Given the description of an element on the screen output the (x, y) to click on. 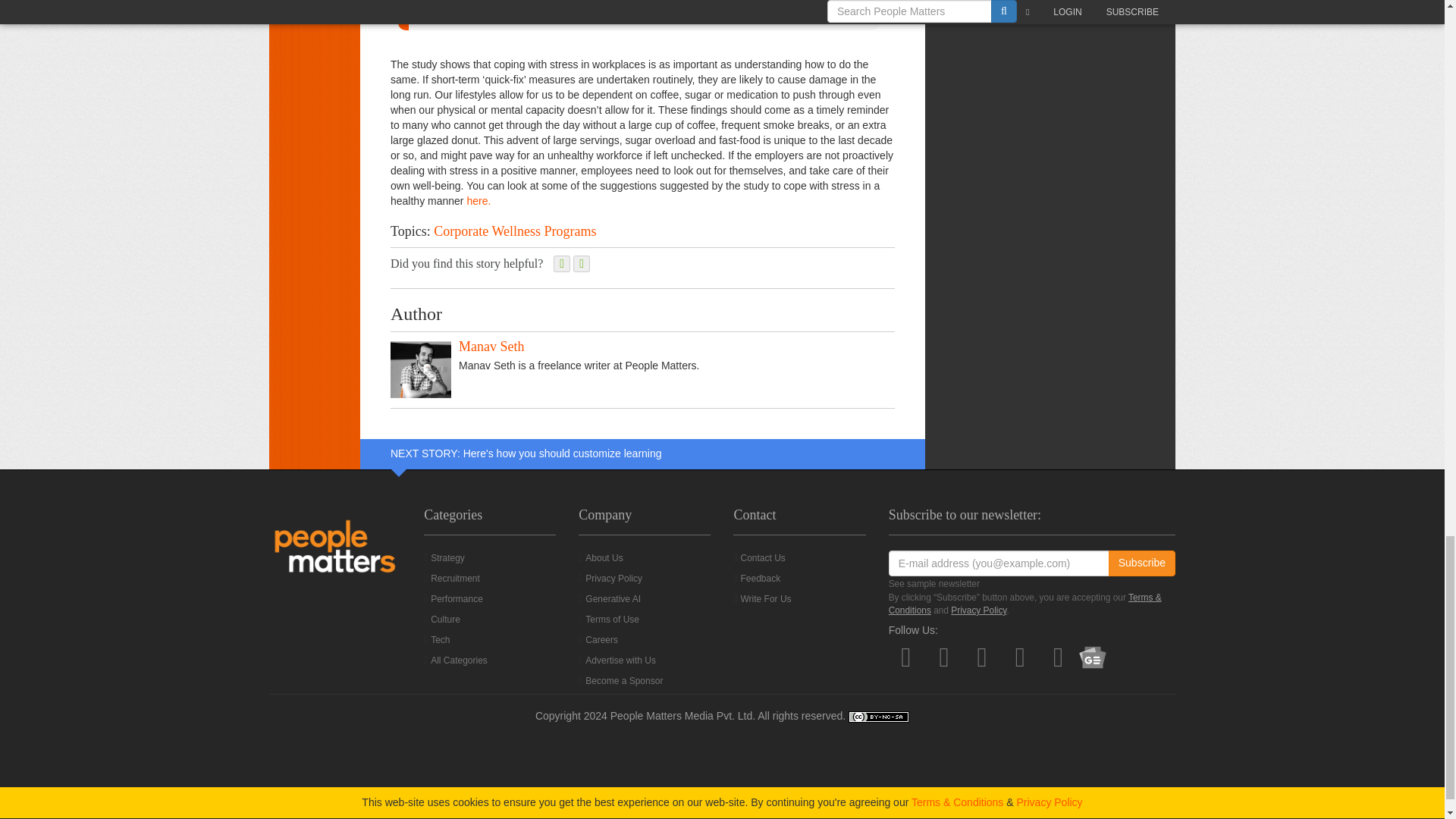
PR newswire (477, 200)
Browse more in: Corporate Wellness Programs (514, 231)
